Given the description of an element on the screen output the (x, y) to click on. 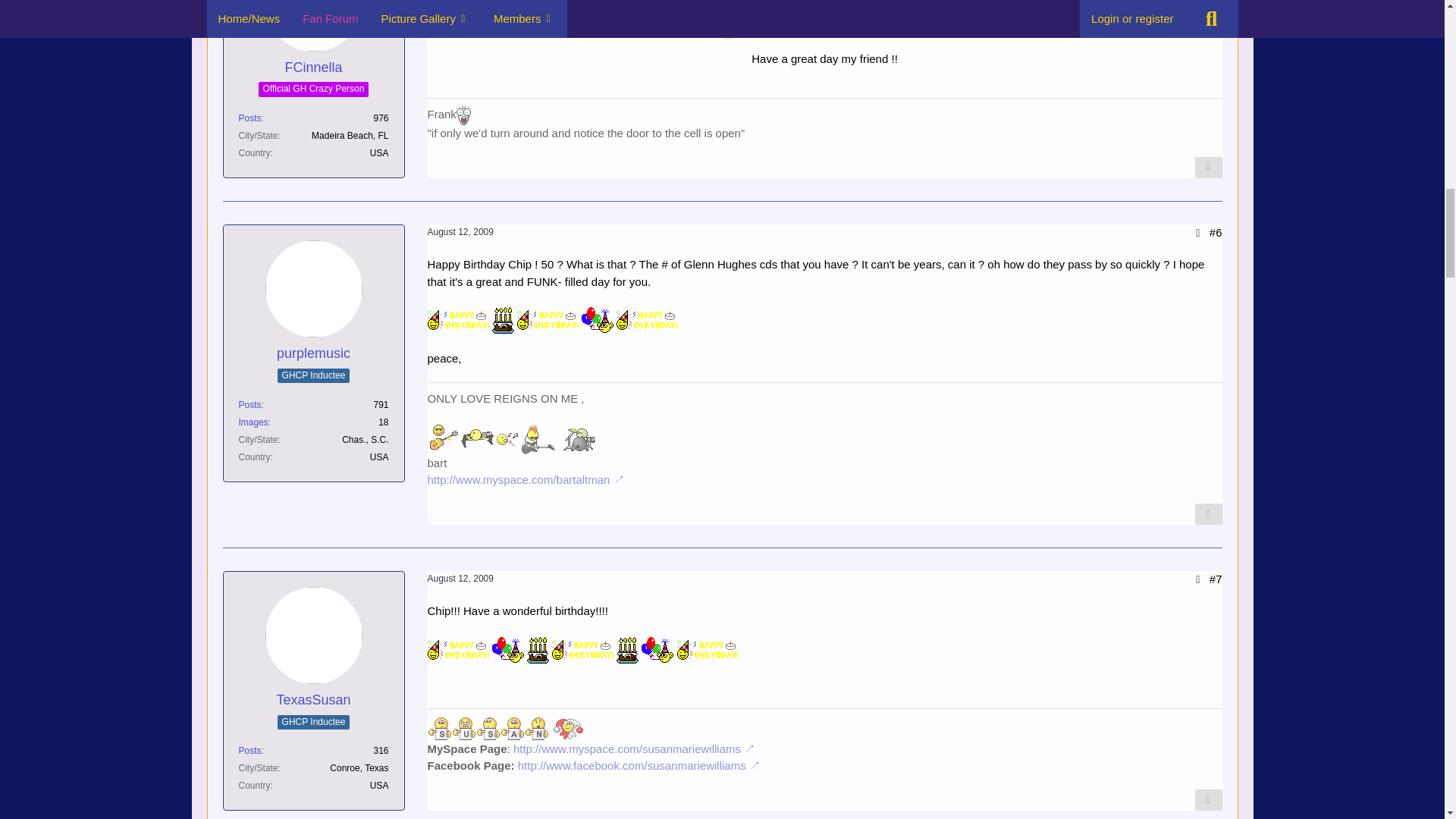
Birthday (547, 320)
biggrin (727, 30)
Birthday (458, 320)
